Given the description of an element on the screen output the (x, y) to click on. 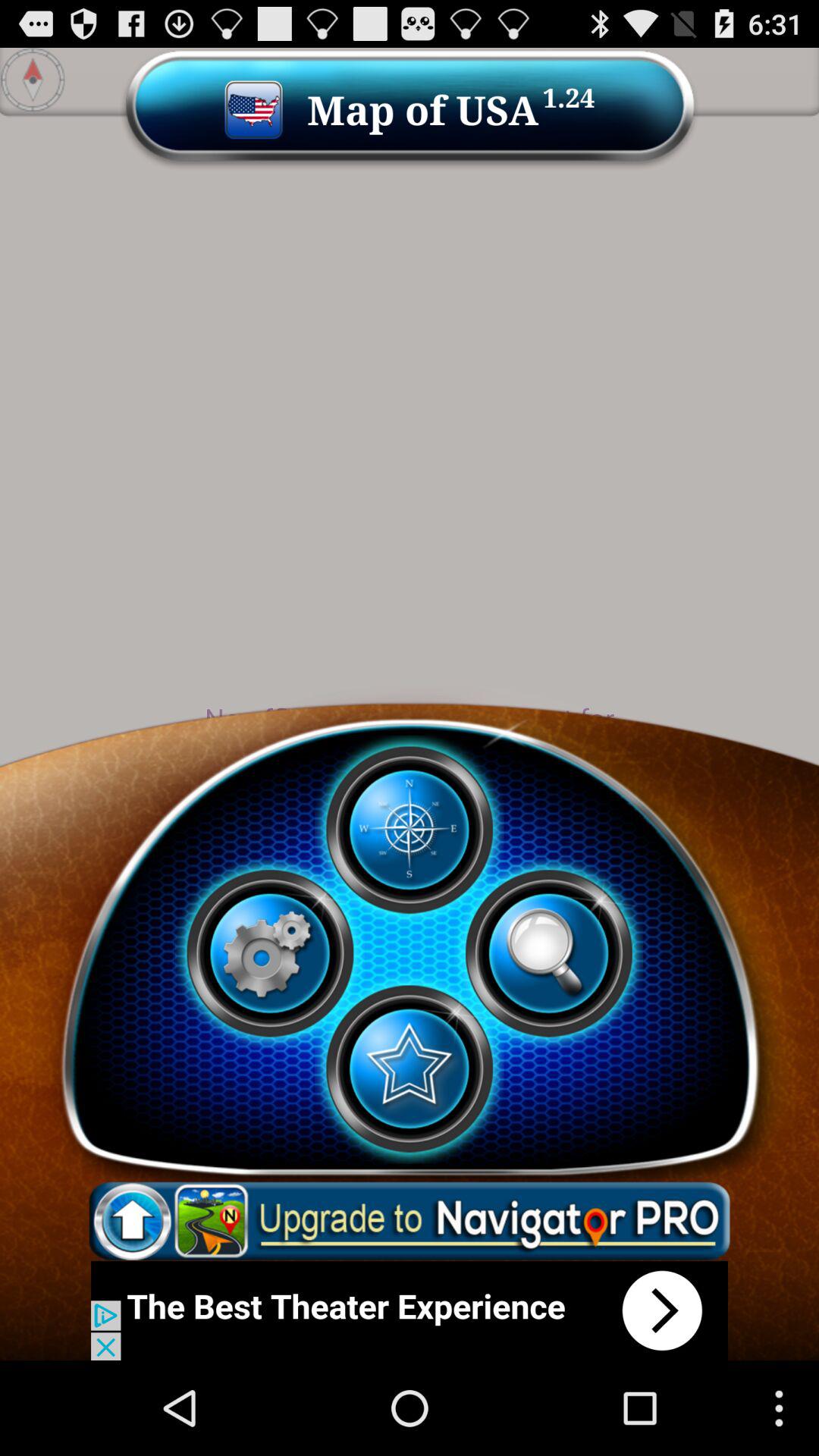
open favorites (408, 1068)
